Given the description of an element on the screen output the (x, y) to click on. 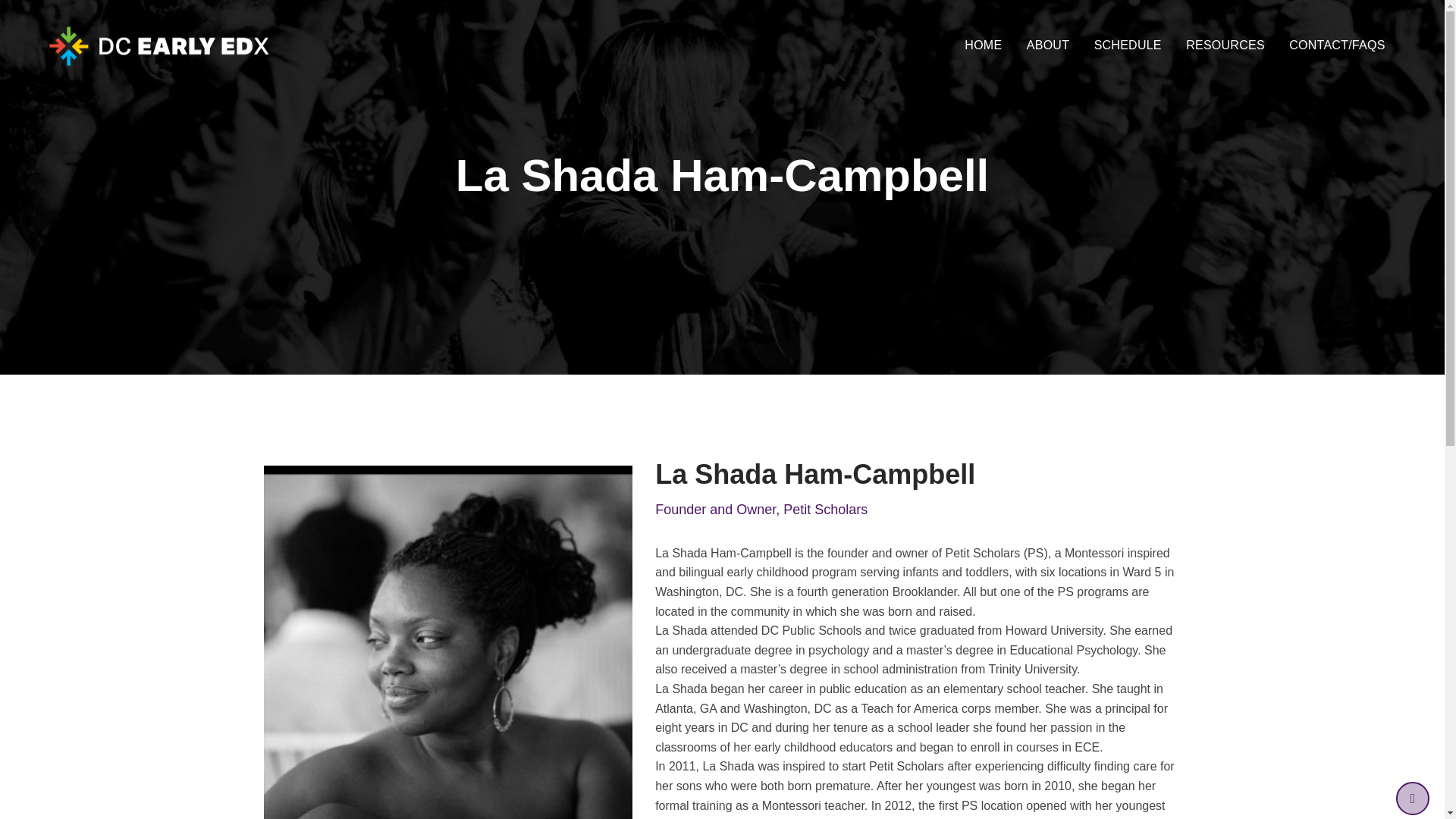
RESOURCES (1224, 45)
SCHEDULE (1127, 45)
ABOUT (1048, 45)
